Given the description of an element on the screen output the (x, y) to click on. 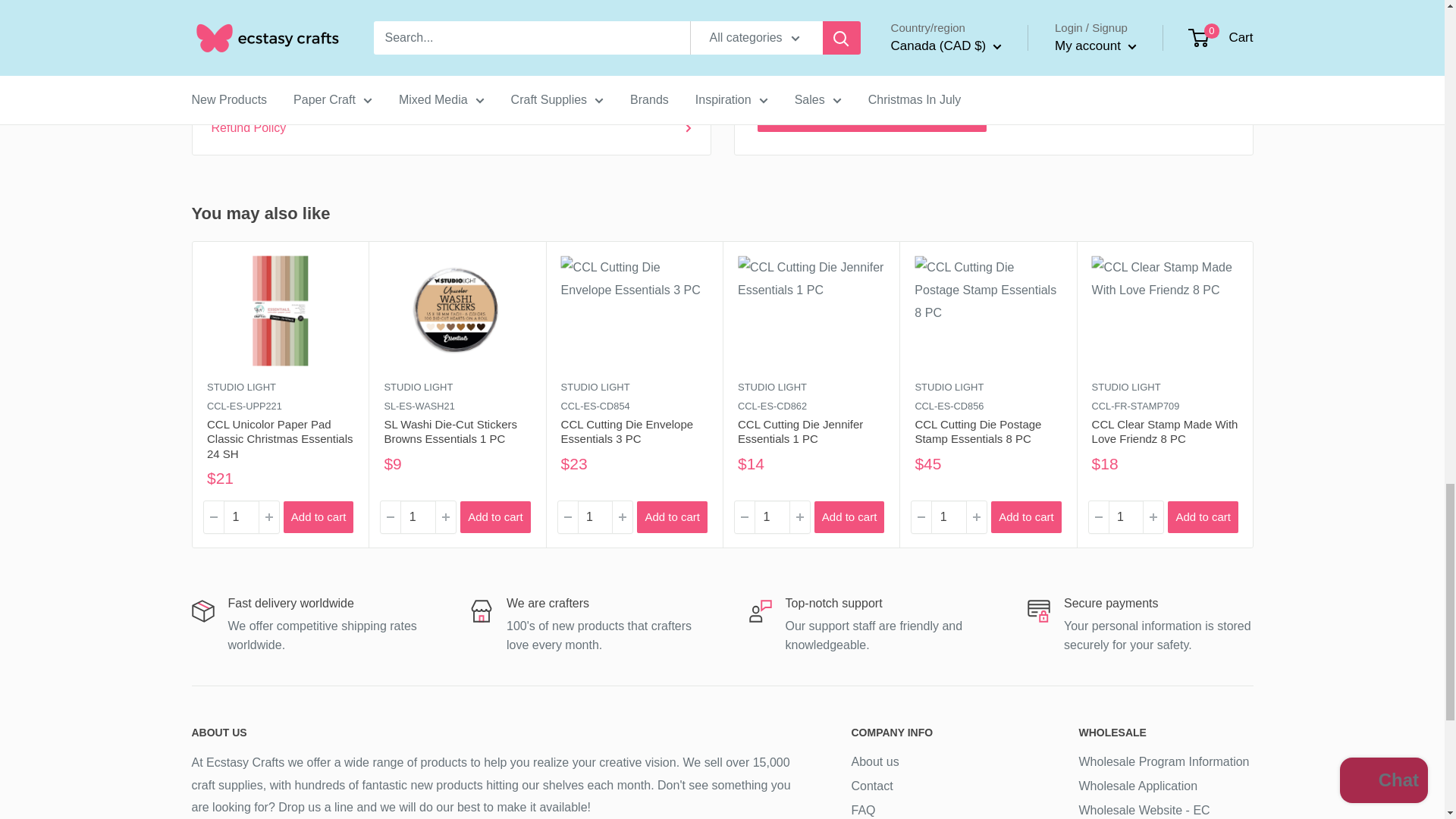
1 (417, 517)
1 (594, 517)
1 (240, 517)
1 (1125, 517)
1 (771, 517)
1 (948, 517)
